Given the description of an element on the screen output the (x, y) to click on. 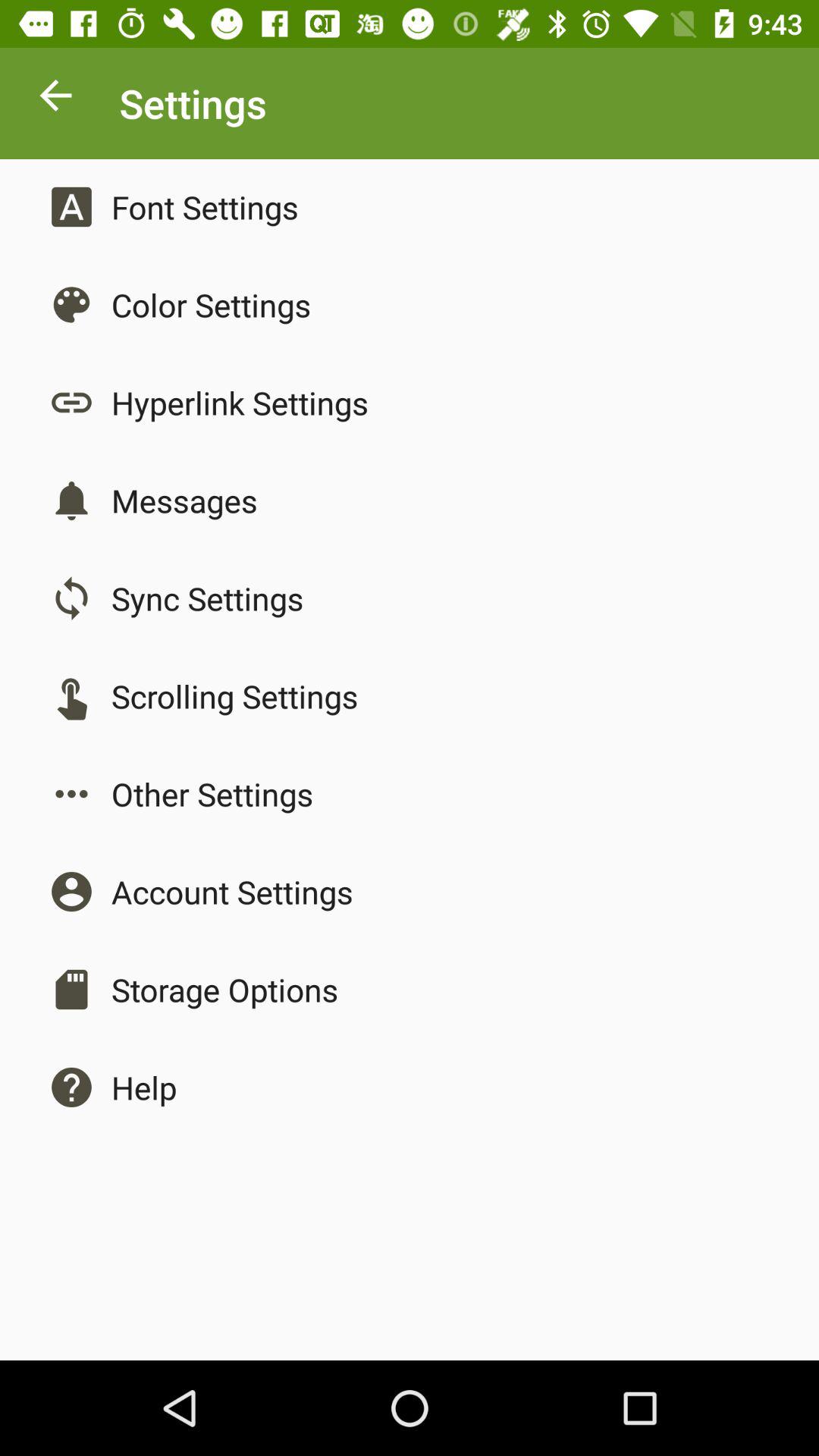
select account settings item (232, 891)
